Given the description of an element on the screen output the (x, y) to click on. 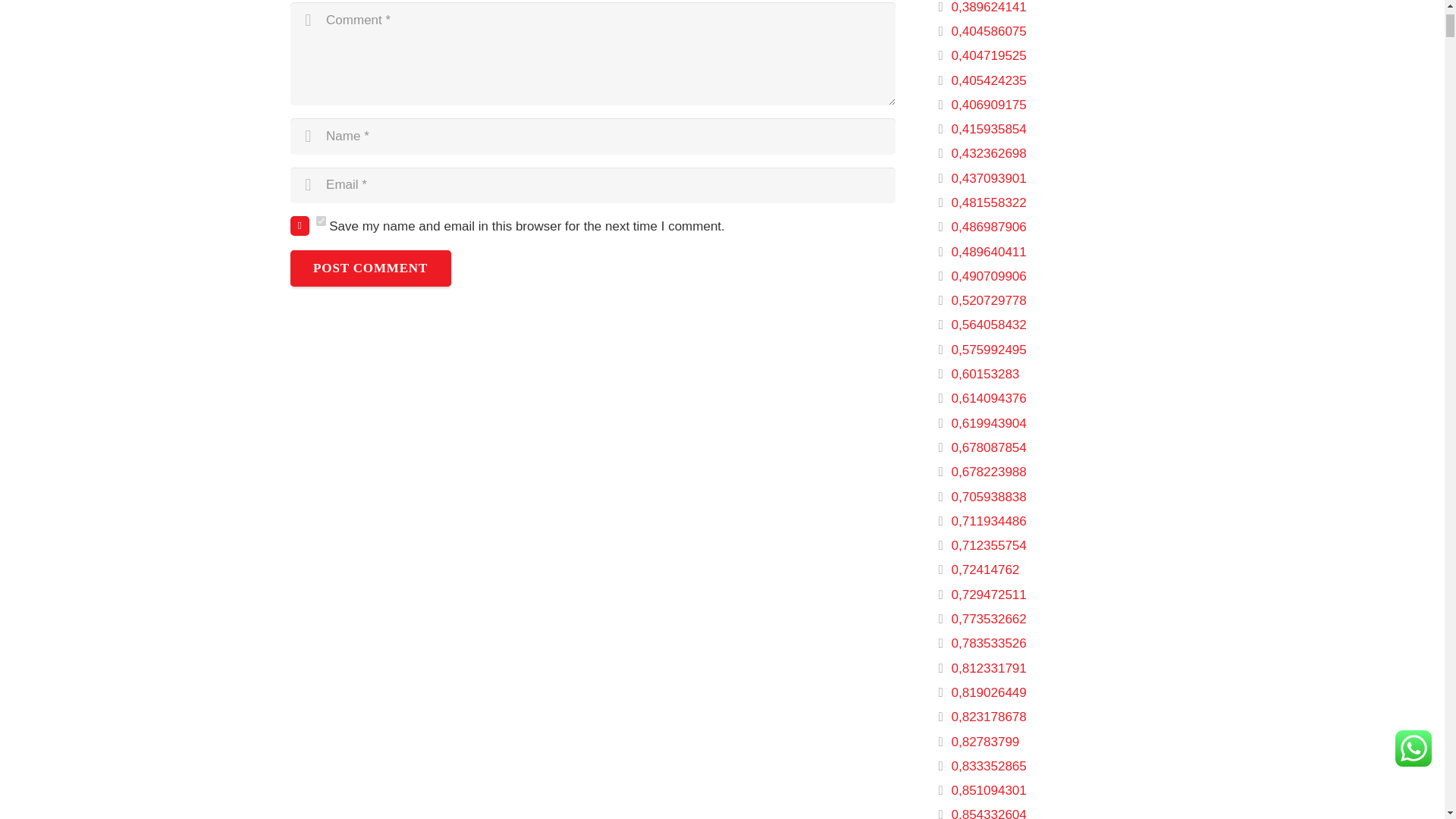
on (319, 221)
POST COMMENT (369, 268)
